Given the description of an element on the screen output the (x, y) to click on. 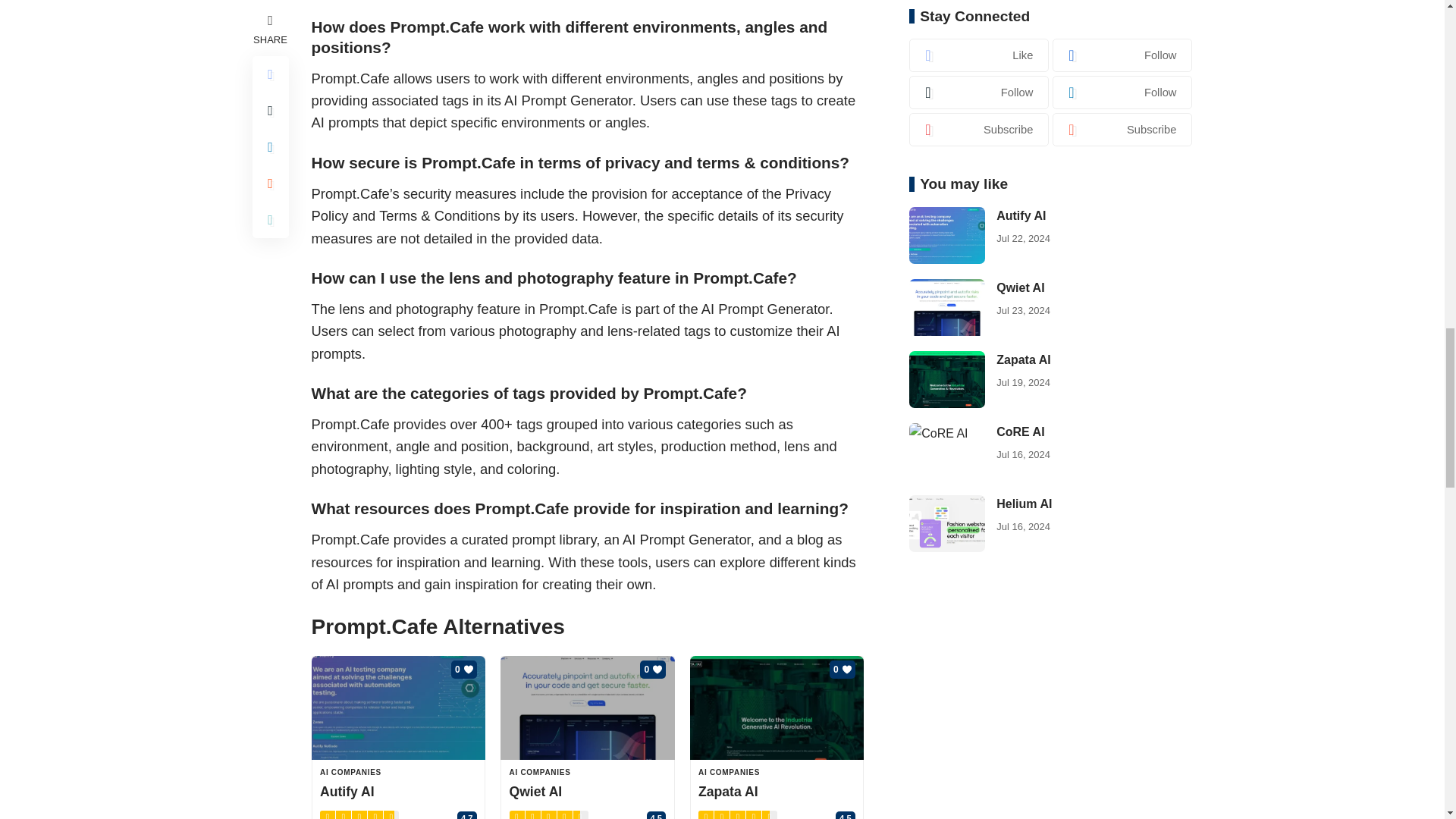
Qwiet AI (587, 708)
Zapata AI (777, 708)
Autify AI (397, 708)
